Given the description of an element on the screen output the (x, y) to click on. 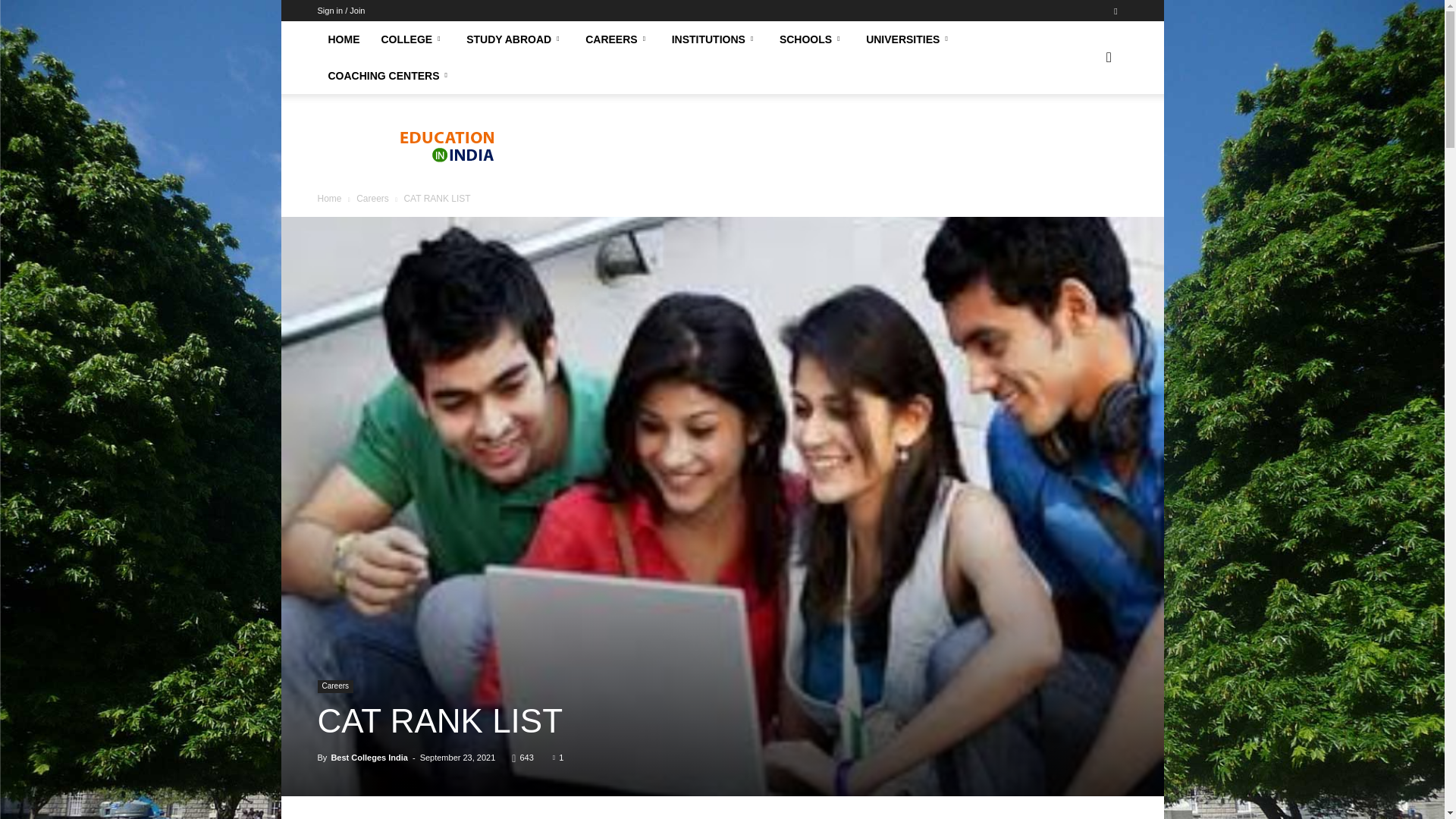
COLLEGE (412, 39)
HOME (343, 39)
Facebook (1114, 10)
